Given the description of an element on the screen output the (x, y) to click on. 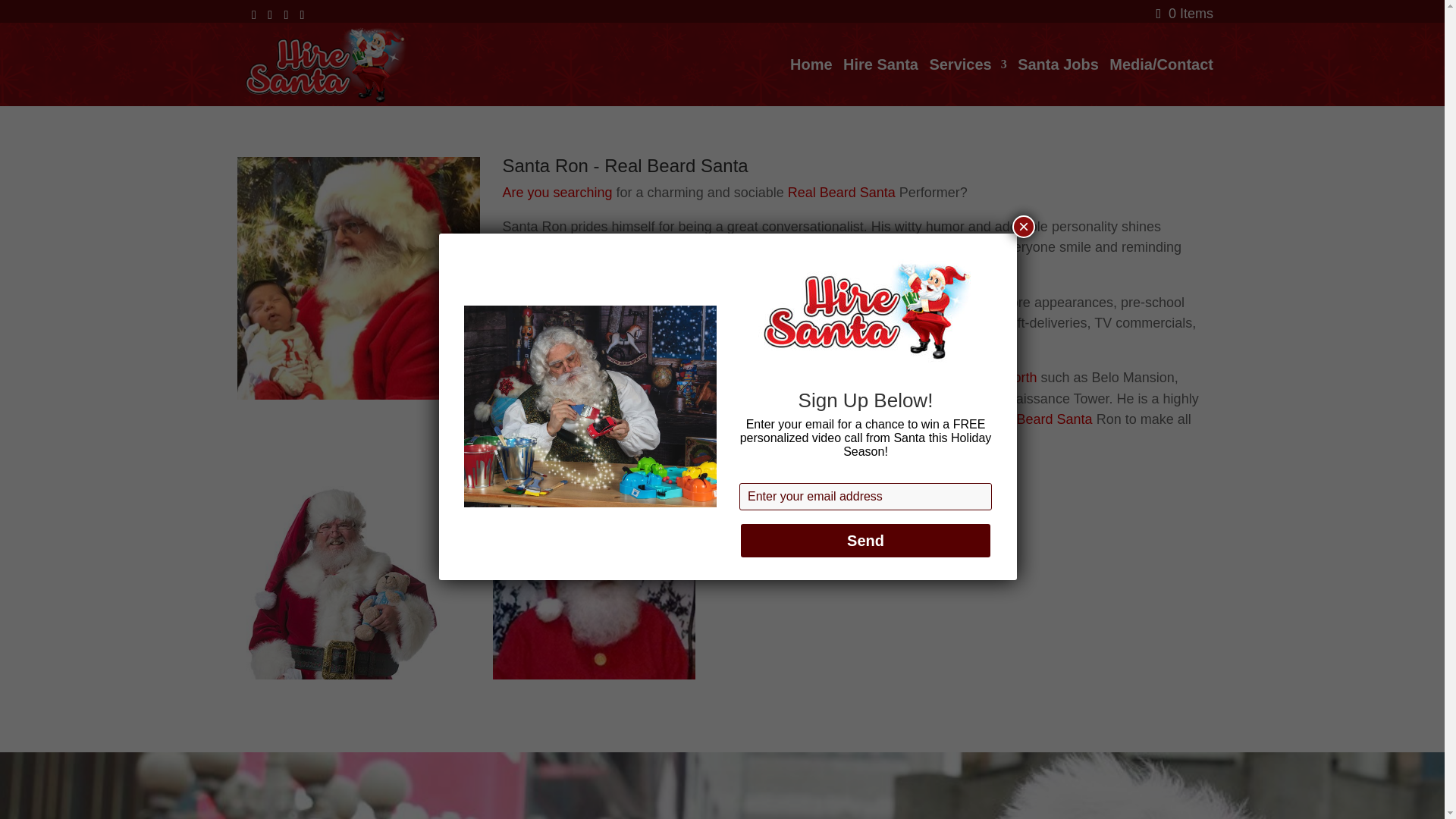
Dallas-Fort Worth (983, 377)
perfect for Santa Claus activations (888, 302)
Are you searching (556, 192)
hire Real Beard Santa (1024, 418)
0 Items (1184, 13)
Hire Santa (880, 82)
Services (967, 82)
Santa Jim DFW Real Beard Santa Claus (594, 675)
Send (865, 539)
Santa Jobs (1058, 82)
